Given the description of an element on the screen output the (x, y) to click on. 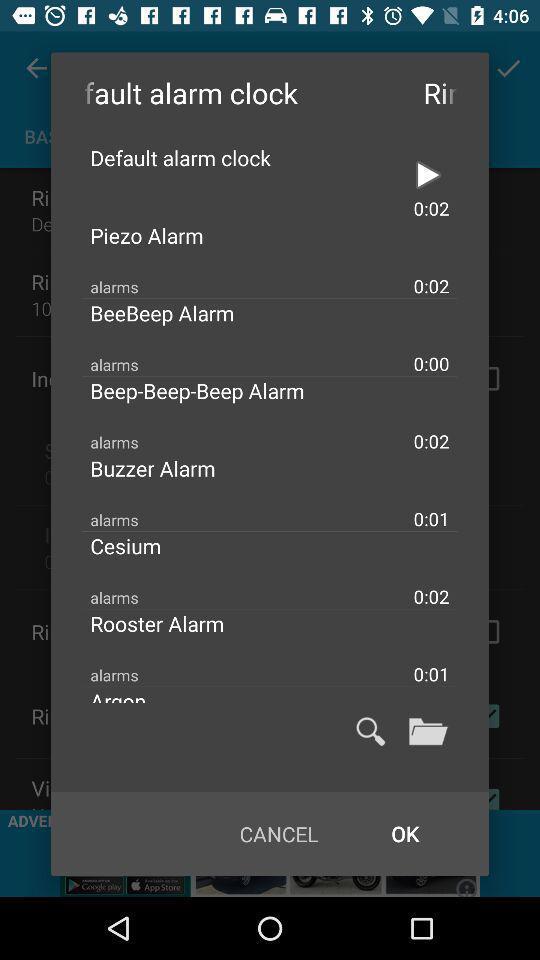
open folder (428, 731)
